Given the description of an element on the screen output the (x, y) to click on. 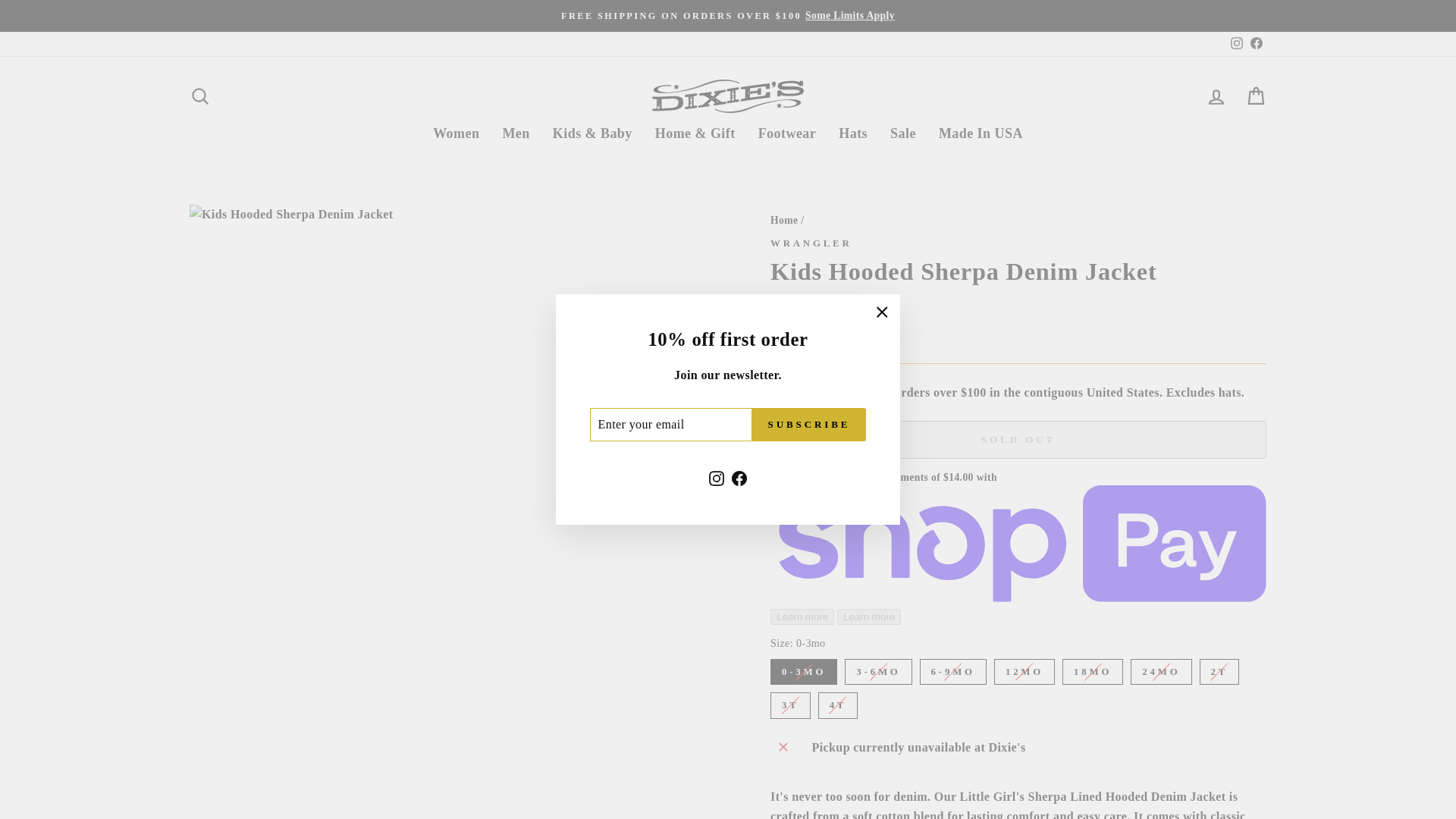
Back to the frontpage (783, 219)
Wrangler (810, 243)
